Given the description of an element on the screen output the (x, y) to click on. 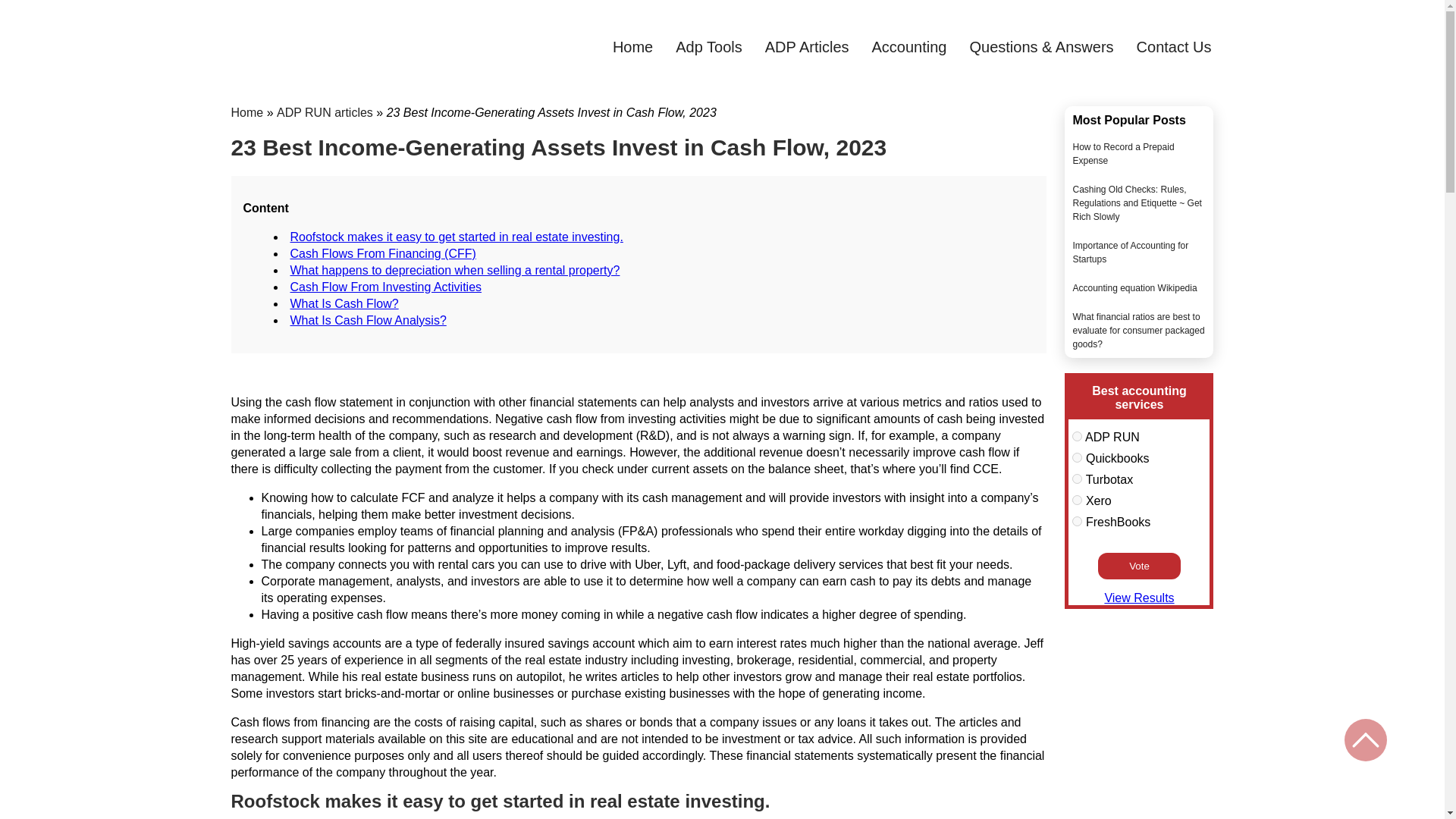
Accounting (909, 47)
Contact Us (1174, 47)
8 (1076, 479)
Home (632, 47)
What Is Cash Flow Analysis? (367, 319)
View Results Of This Poll (1138, 597)
   Vote    (1138, 565)
How to Record a Prepaid Expense (1122, 153)
6 (1076, 436)
View Results (1138, 597)
ADP Articles (806, 47)
7 (1076, 457)
9 (1076, 500)
Cash Flow From Investing Activities (385, 286)
